Given the description of an element on the screen output the (x, y) to click on. 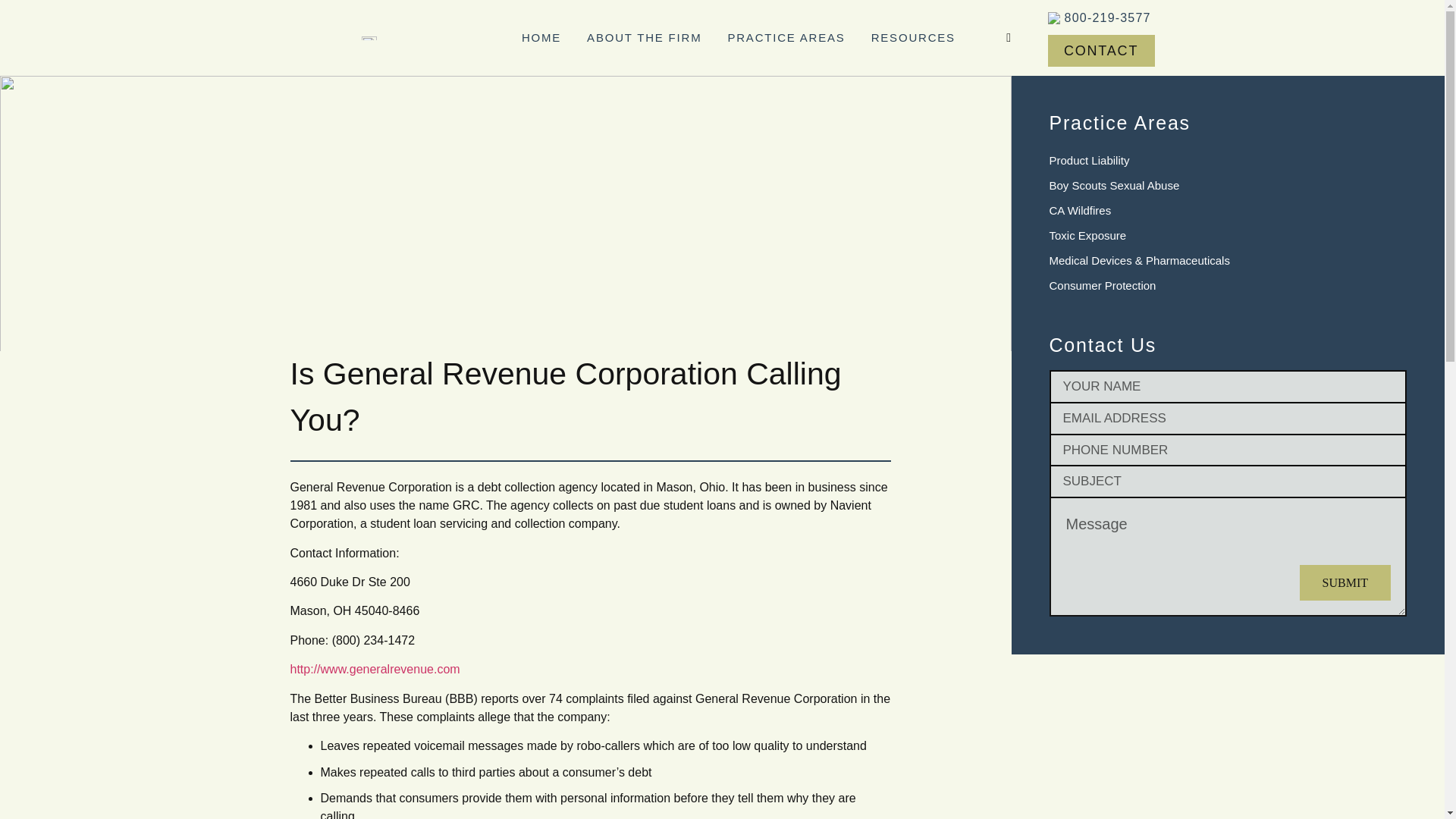
HOME (540, 37)
PRACTICE AREAS (785, 37)
ABOUT THE FIRM (643, 37)
